Given the description of an element on the screen output the (x, y) to click on. 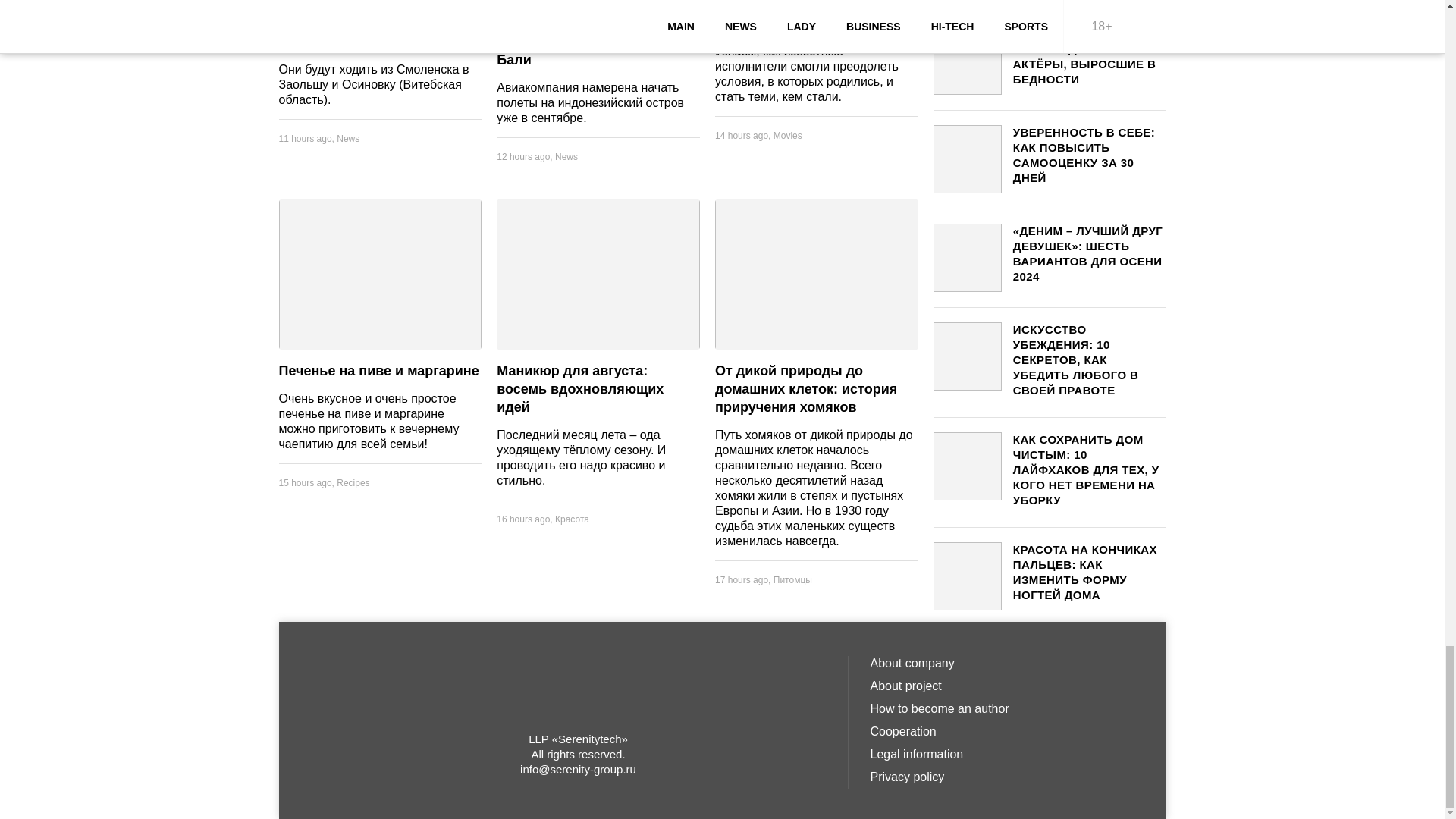
Cooperation (1007, 731)
About company (1007, 662)
Privacy policy (1007, 776)
How to become an author (1007, 708)
About project (1007, 685)
Legal information (1007, 753)
